Given the description of an element on the screen output the (x, y) to click on. 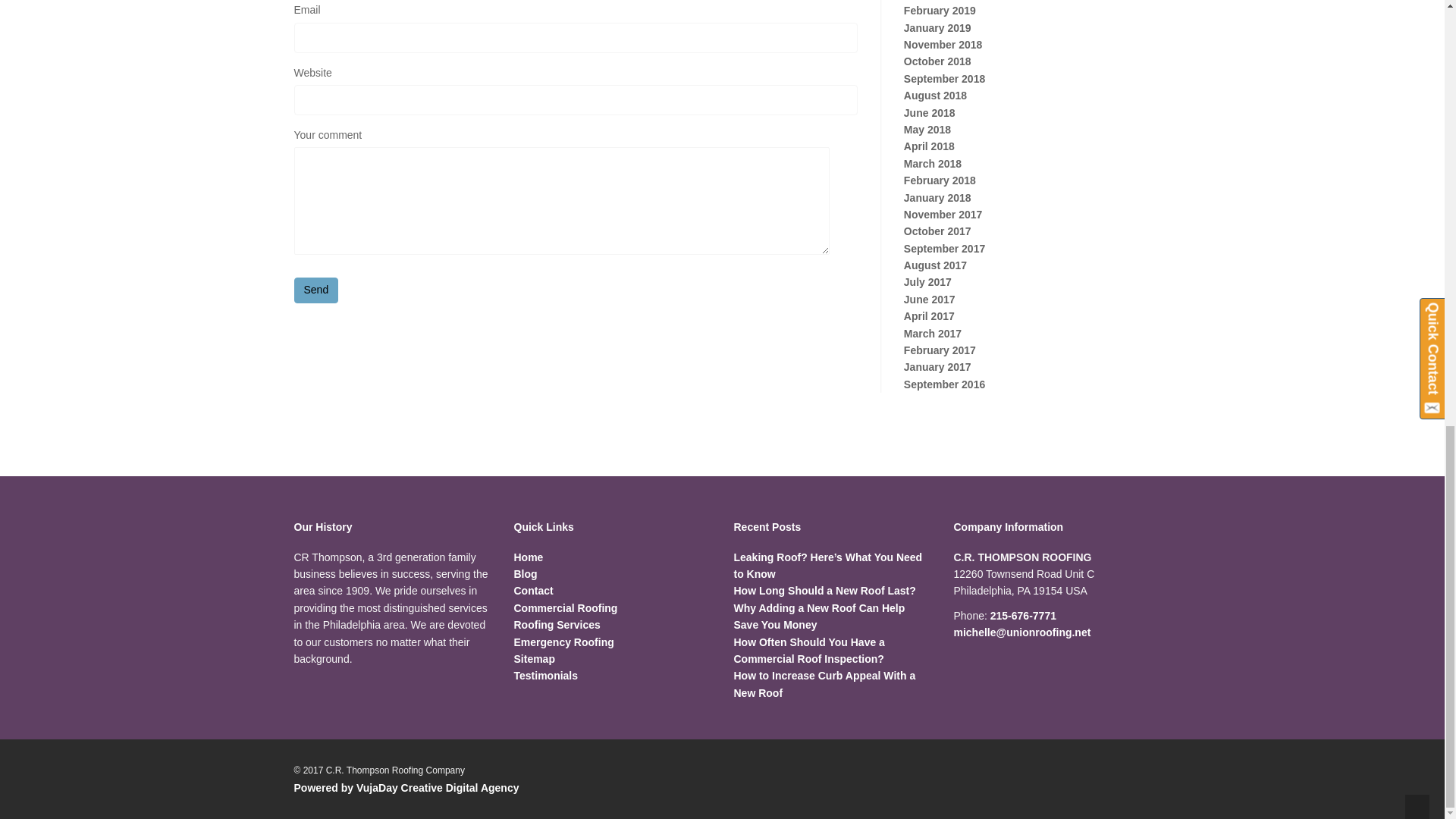
Send (316, 290)
